Given the description of an element on the screen output the (x, y) to click on. 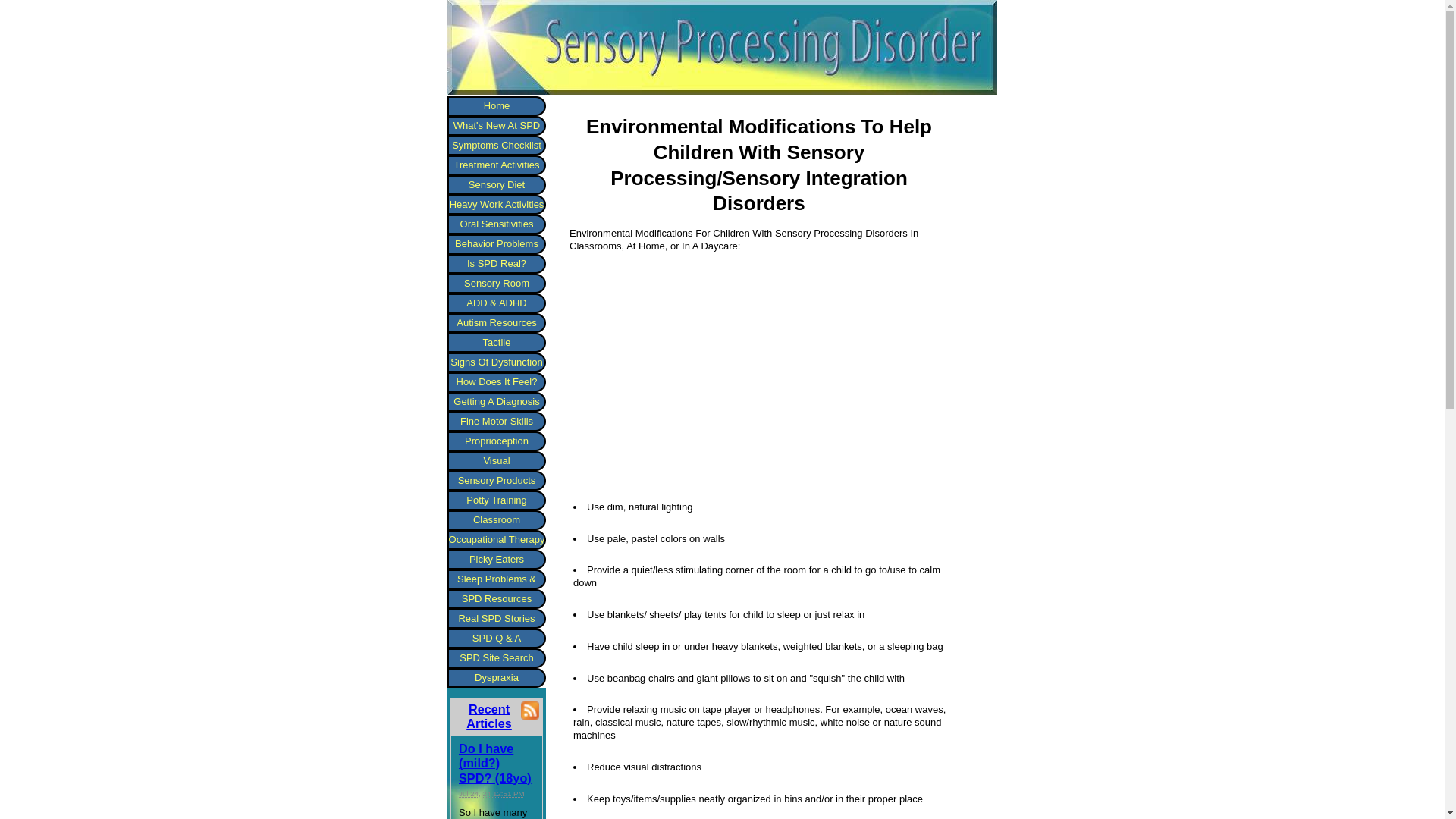
Classroom (496, 519)
Occupational Therapy (496, 539)
SPD Site Search (496, 658)
What's New At SPD (496, 125)
Sensory Room (496, 283)
Treatment Activities (496, 165)
Symptoms Checklist (496, 145)
Visual (496, 460)
Picky Eaters (496, 559)
How Does It Feel? (496, 382)
Real SPD Stories (496, 618)
Getting A Diagnosis (496, 401)
Fine Motor Skills (496, 421)
Is SPD Real? (496, 263)
2024-07-24T12:51:03-0400 (491, 793)
